Given the description of an element on the screen output the (x, y) to click on. 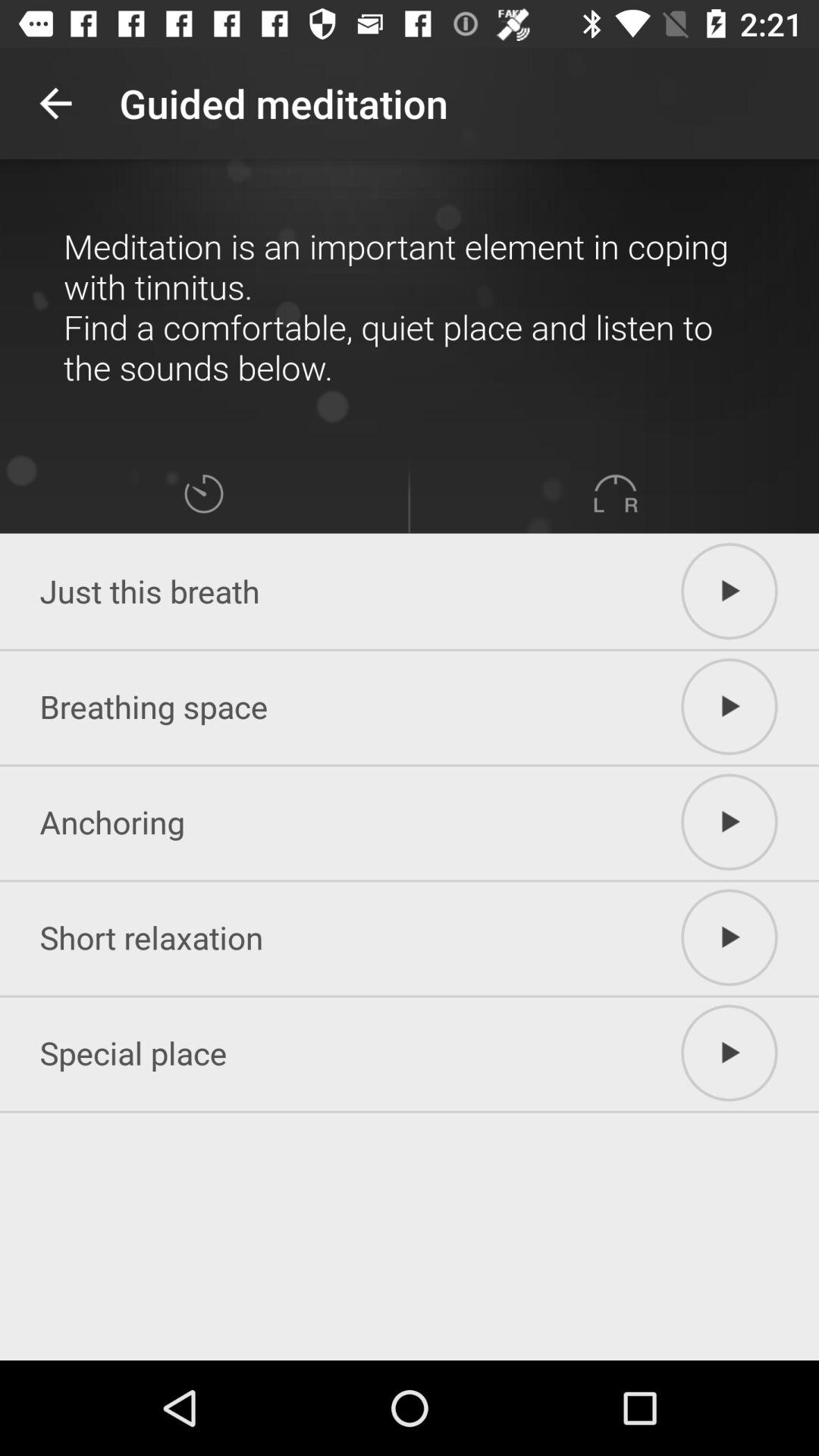
turn on the item on the left (203, 493)
